Given the description of an element on the screen output the (x, y) to click on. 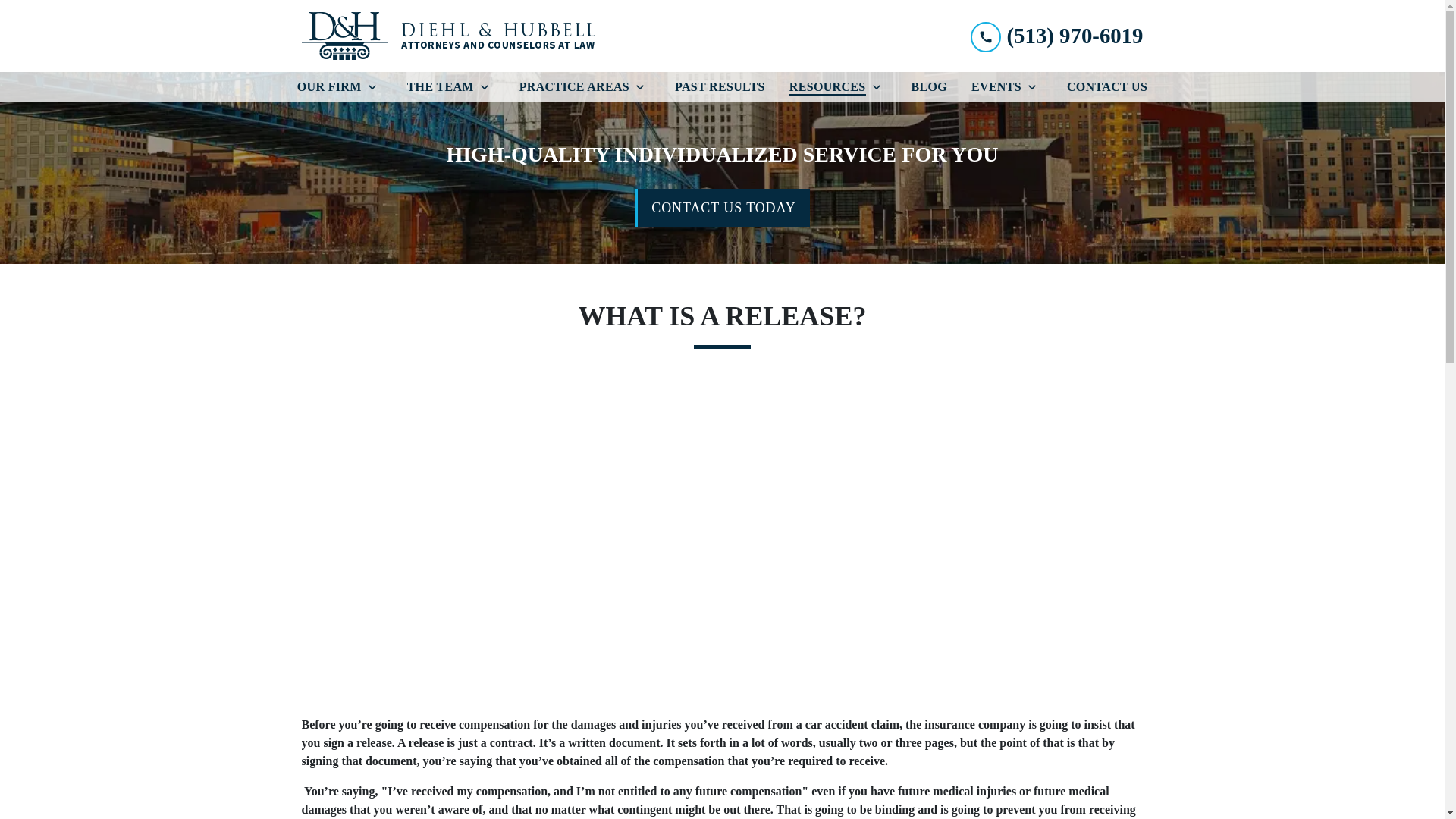
EVENTS (993, 87)
PAST RESULTS (719, 87)
CONTACT US TODAY (721, 208)
OUR FIRM (326, 87)
PRACTICE AREAS (570, 87)
CONTACT US (1107, 87)
THE TEAM (437, 87)
RESOURCES (824, 87)
BLOG (929, 87)
